Given the description of an element on the screen output the (x, y) to click on. 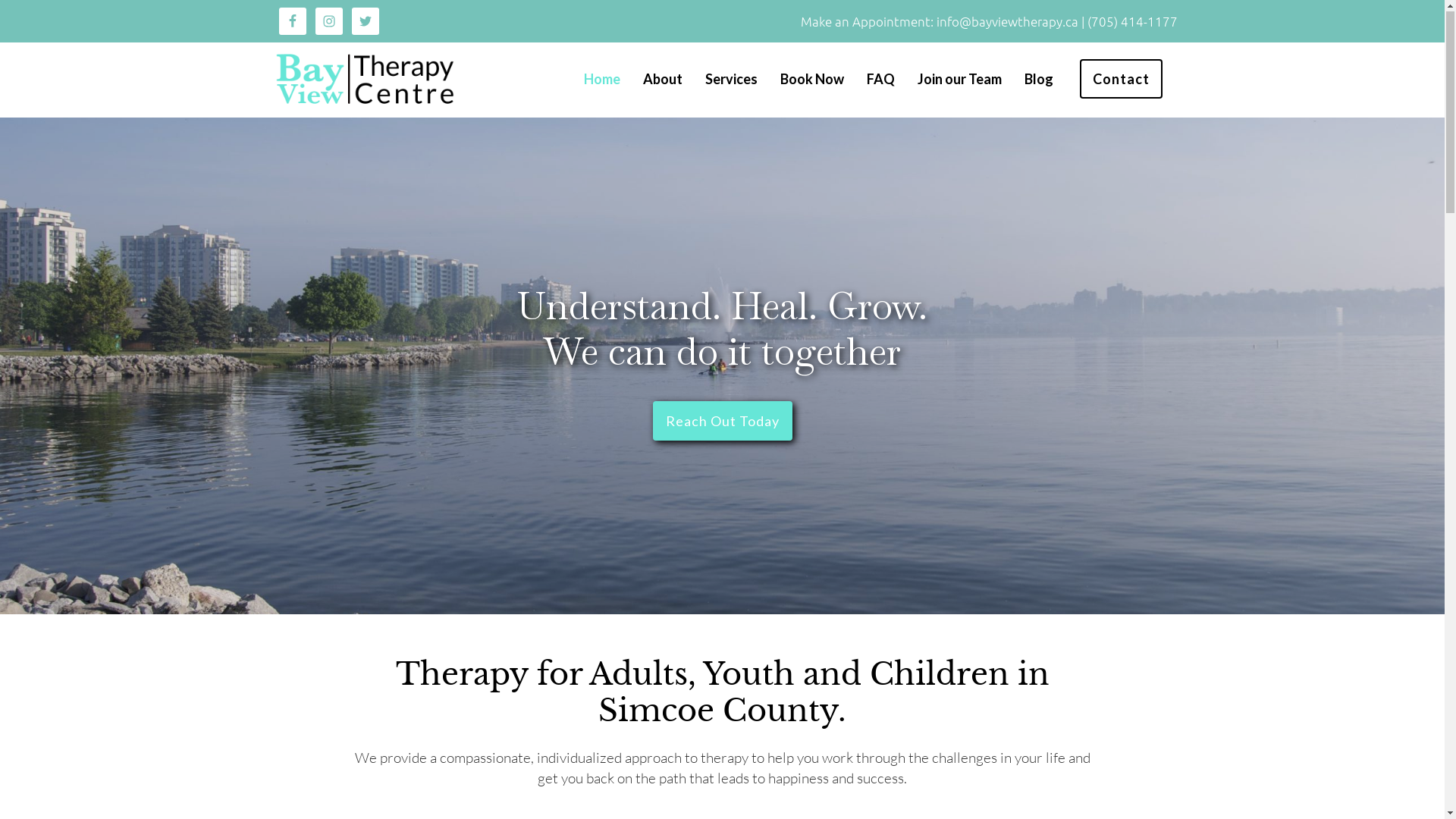
Blog Element type: text (1037, 79)
(705) 414-1177 Element type: text (1132, 21)
Join our Team Element type: text (959, 79)
Reach Out Today Element type: text (721, 421)
Book Now Element type: text (811, 79)
Services Element type: text (731, 79)
About Element type: text (662, 79)
Contact Element type: text (1120, 78)
info@bayviewtherapy.ca Element type: text (1007, 21)
FAQ Element type: text (880, 79)
Home Element type: text (601, 79)
